Given the description of an element on the screen output the (x, y) to click on. 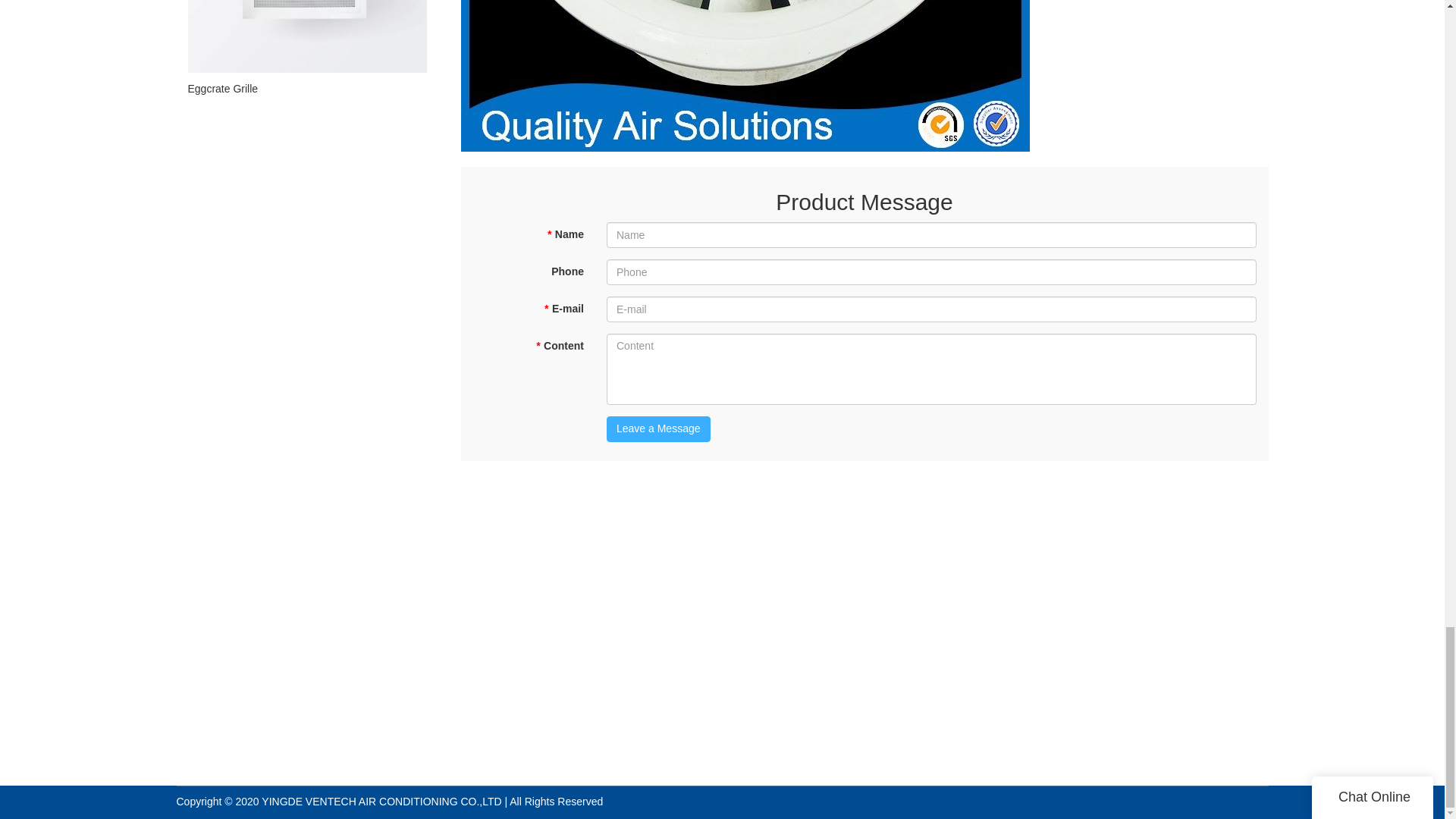
Eggcrate Grille (306, 88)
